Given the description of an element on the screen output the (x, y) to click on. 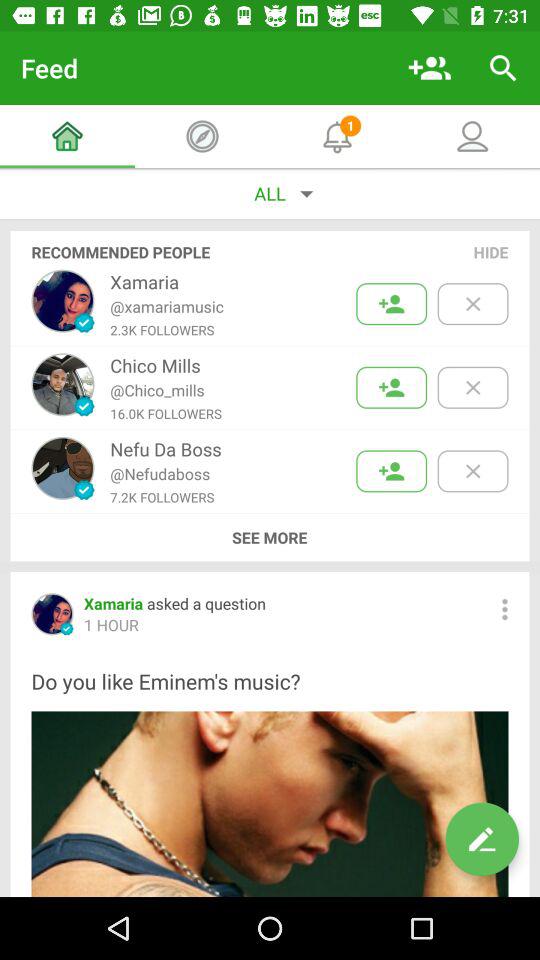
hide the first recommendation (472, 303)
